Given the description of an element on the screen output the (x, y) to click on. 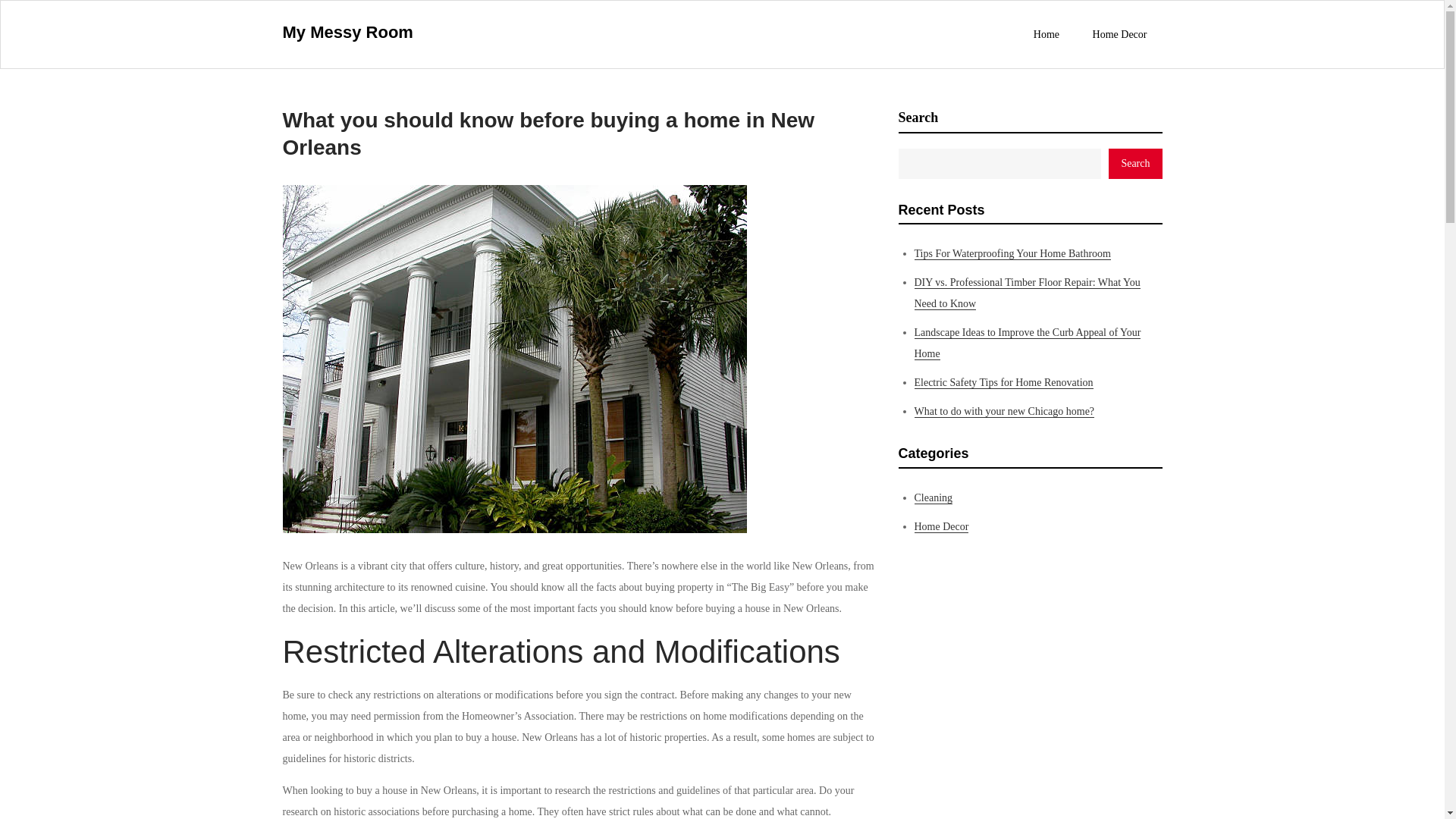
Landscape Ideas to Improve the Curb Appeal of Your Home (1027, 343)
What to do with your new Chicago home? (1004, 411)
Home Decor (1119, 33)
Cleaning (933, 498)
Tips For Waterproofing Your Home Bathroom (1012, 254)
Electric Safety Tips for Home Renovation (1003, 382)
My Messy Room (347, 31)
Home Decor (941, 526)
Search (1134, 163)
